Given the description of an element on the screen output the (x, y) to click on. 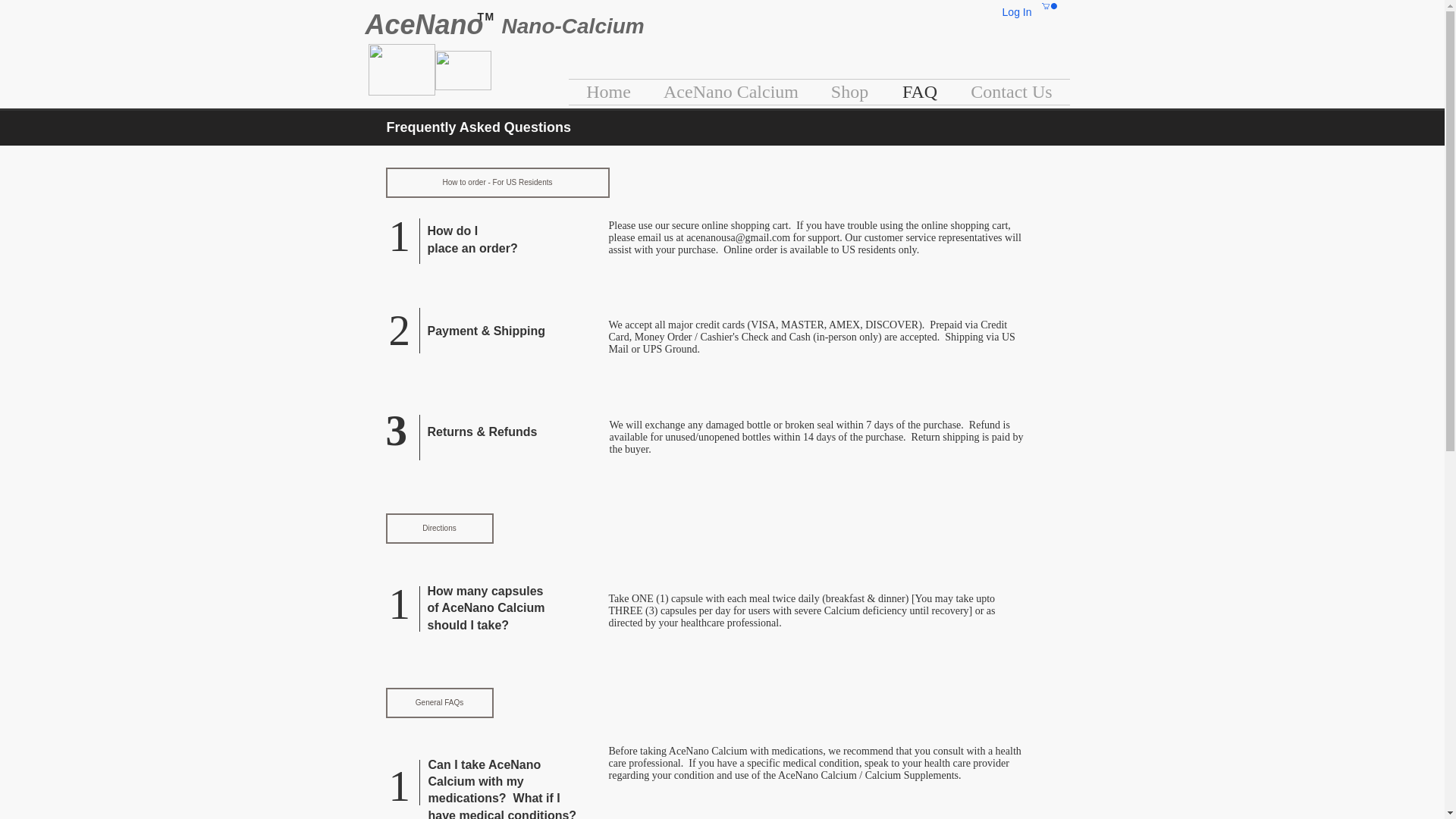
Contact Us (1011, 91)
Log In (1016, 12)
AceNano Calcium (731, 91)
Home (609, 91)
FAQ (919, 91)
AceN (400, 24)
Shop (848, 91)
